Given the description of an element on the screen output the (x, y) to click on. 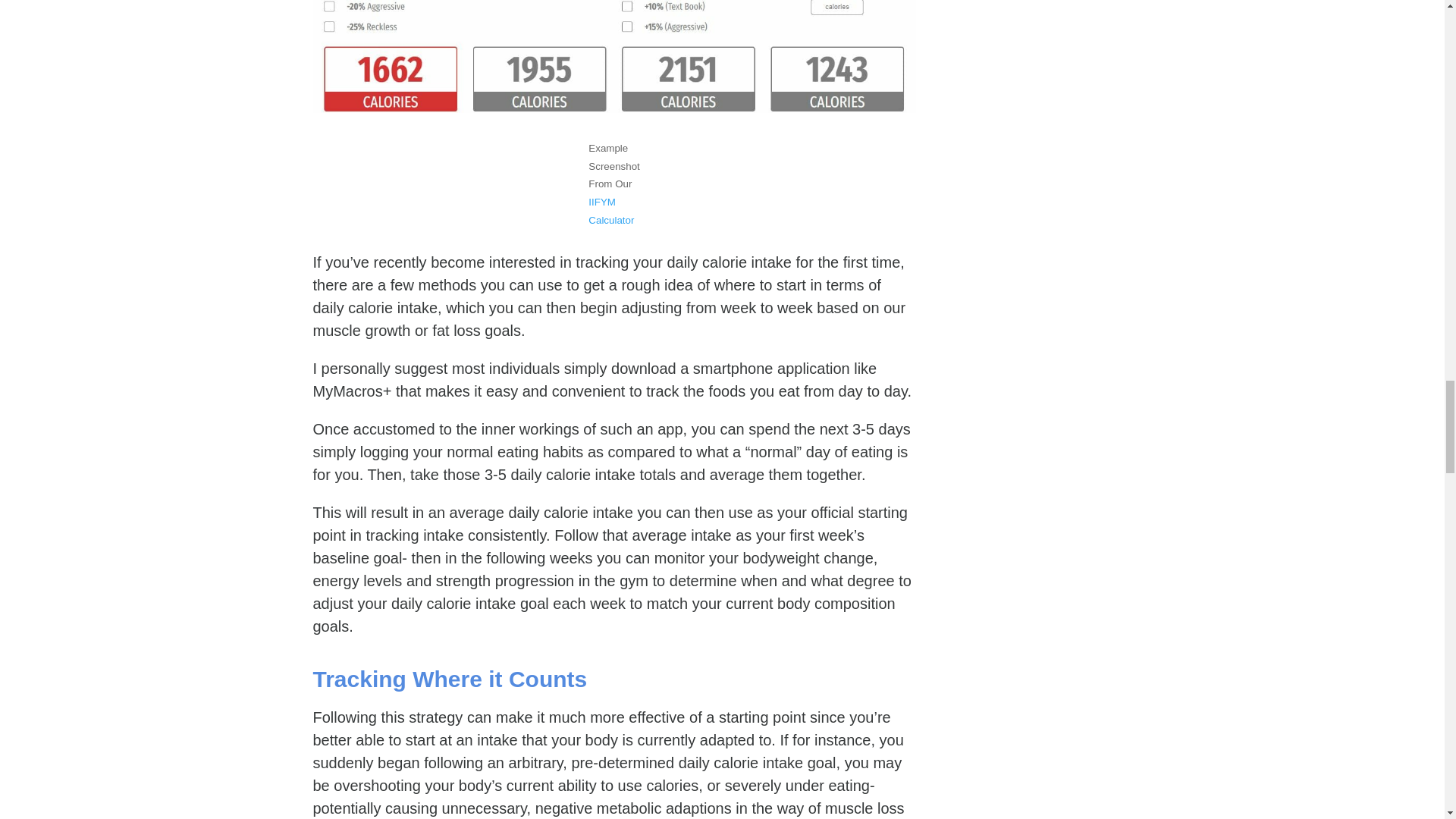
Calories-On-IIFYM-Calc (614, 56)
IIFYM Calculator (610, 211)
